Given the description of an element on the screen output the (x, y) to click on. 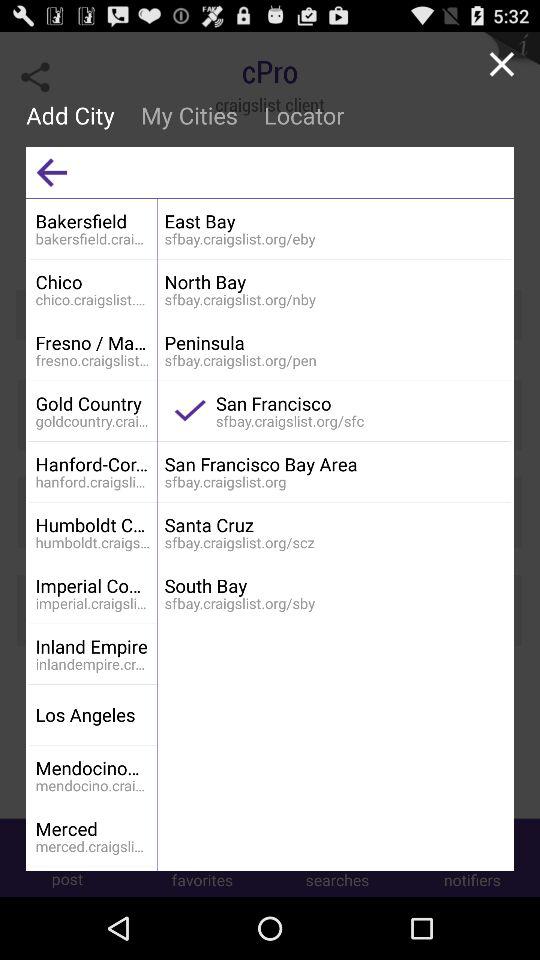
open app next to the san francisco item (190, 410)
